Given the description of an element on the screen output the (x, y) to click on. 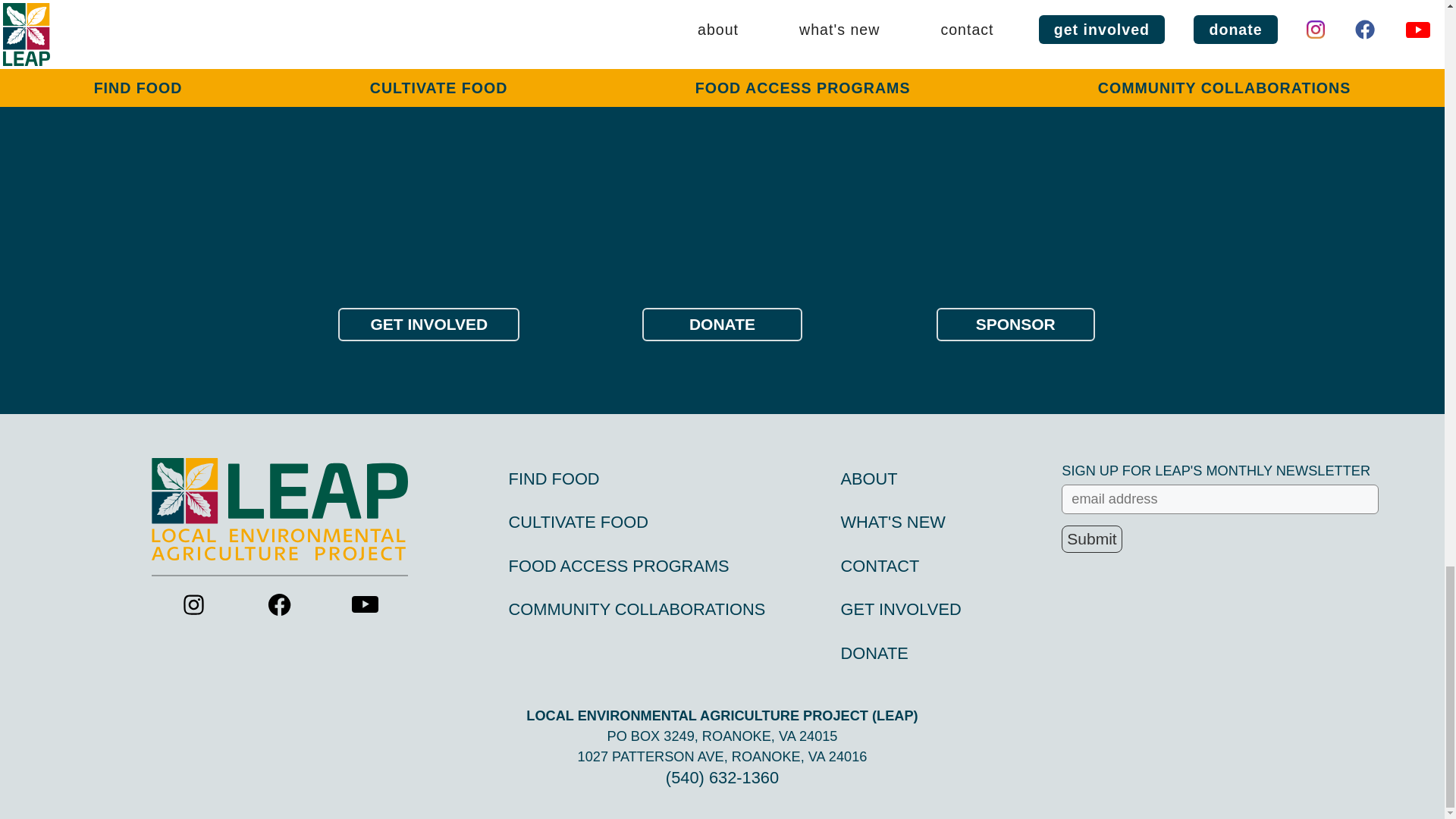
Submit (1091, 538)
CULTIVATE FOOD (577, 521)
GET INVOLVED (428, 324)
COMMUNITY COLLABORATIONS (636, 609)
Submit (1091, 538)
SPONSOR (1015, 324)
CONTACT (879, 565)
FIND FOOD (553, 478)
DONATE (722, 324)
DONATE (873, 652)
FOOD ACCESS PROGRAMS (618, 565)
GET INVOLVED (900, 609)
ABOUT (868, 478)
WHAT'S NEW (892, 521)
